Given the description of an element on the screen output the (x, y) to click on. 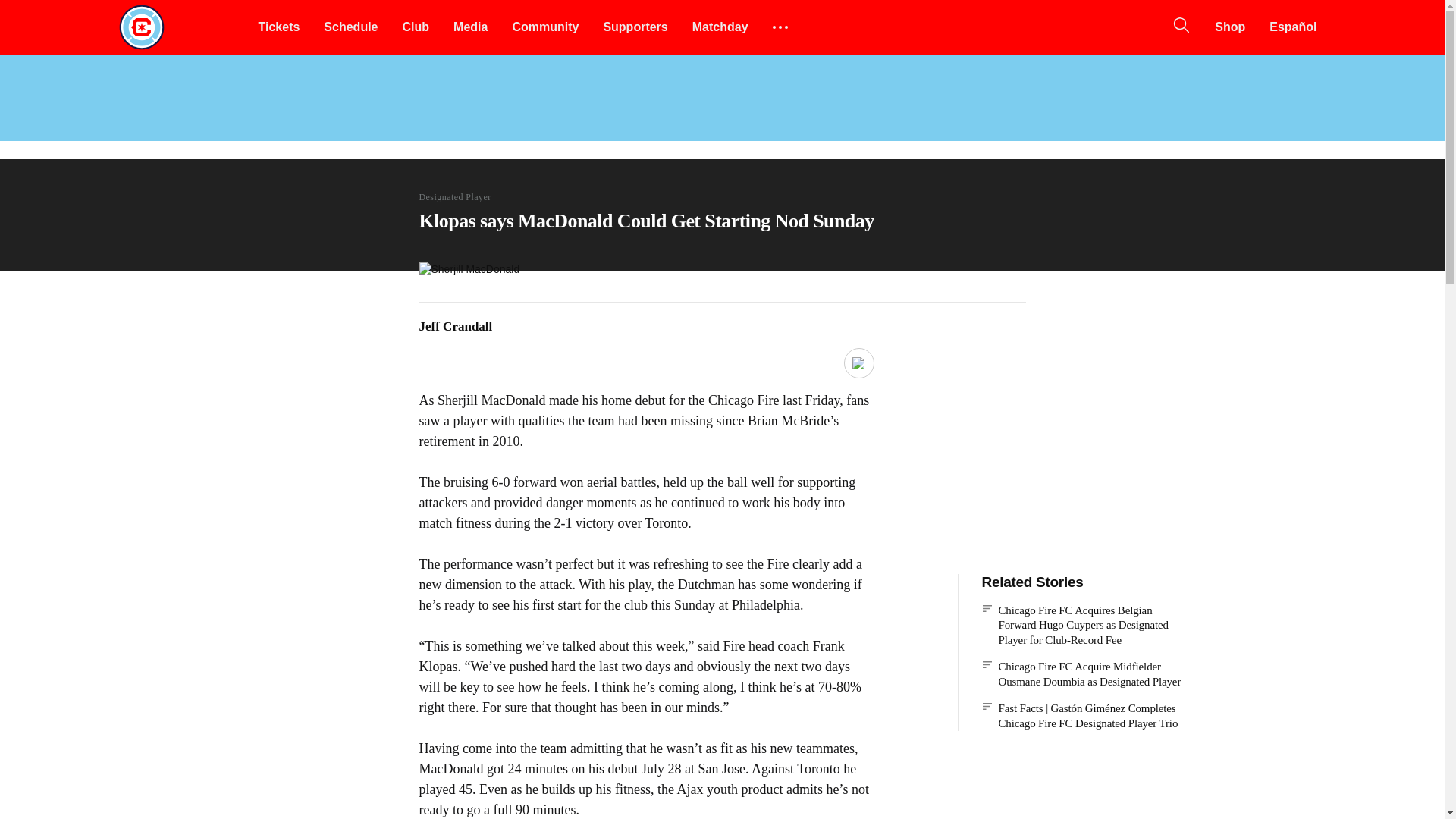
Chicago Fire FC (141, 27)
Media (470, 26)
Tickets (278, 26)
Schedule (350, 26)
Shop (1229, 26)
Community (545, 26)
Matchday (719, 26)
Club (415, 26)
Supporters (635, 26)
